Given the description of an element on the screen output the (x, y) to click on. 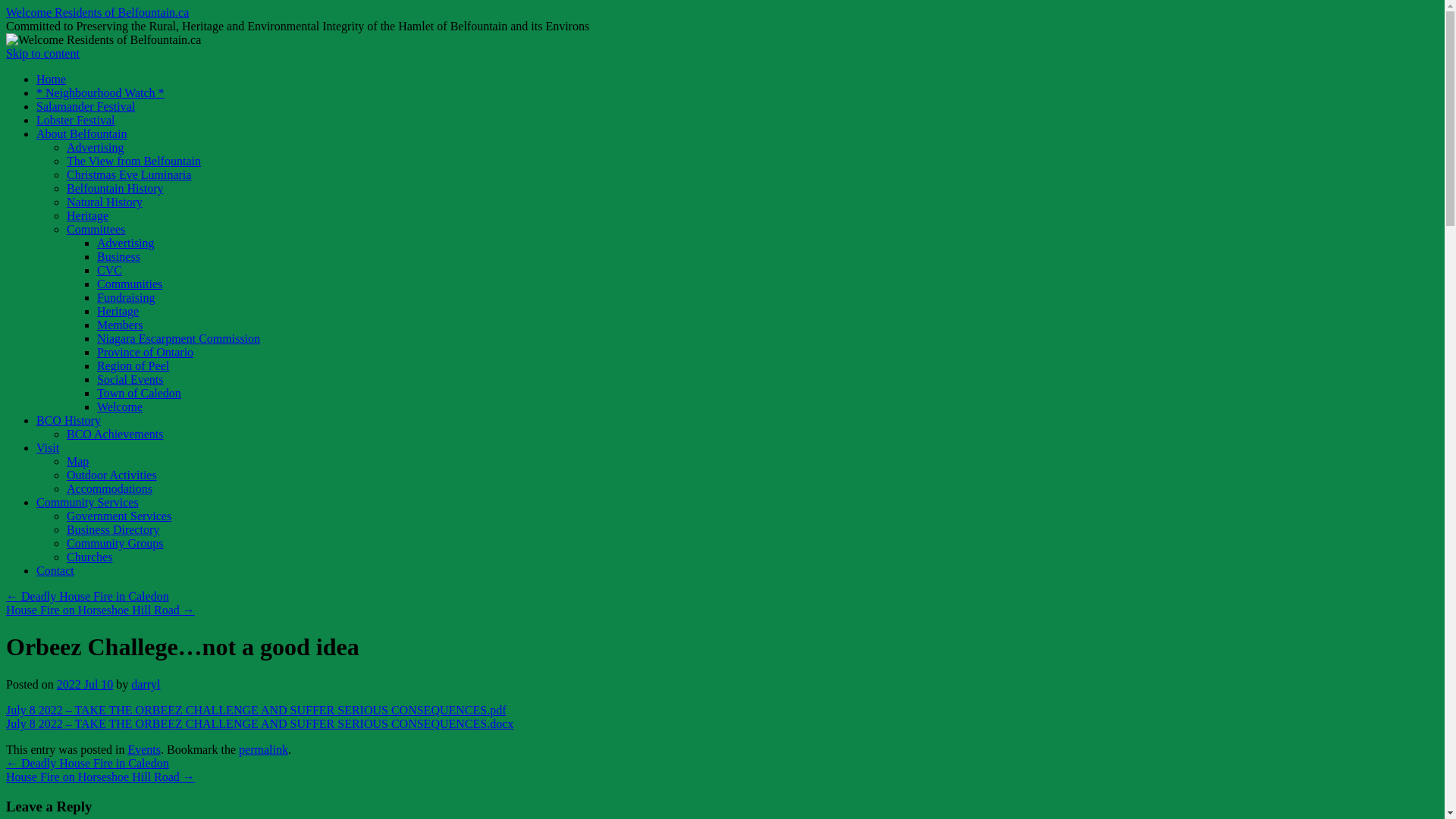
Heritage Element type: text (87, 215)
Welcome Residents of Belfountain.ca Element type: text (97, 12)
The View from Belfountain Element type: text (133, 160)
Committees Element type: text (95, 228)
Town of Caledon Element type: text (139, 392)
darryl Element type: text (145, 683)
Belfountain History Element type: text (114, 188)
BCO Achievements Element type: text (114, 433)
permalink Element type: text (263, 749)
Social Events Element type: text (130, 379)
Communities Element type: text (129, 283)
Fundraising Element type: text (125, 297)
Churches Element type: text (89, 556)
Christmas Eve Luminaria Element type: text (128, 174)
2022 Jul 10 Element type: text (84, 683)
Region of Peel Element type: text (133, 365)
Heritage Element type: text (117, 310)
Welcome Element type: text (119, 406)
Members Element type: text (119, 324)
Events Element type: text (143, 749)
Outdoor Activities Element type: text (111, 474)
Community Groups Element type: text (114, 542)
Business Directory Element type: text (112, 529)
Visit Element type: text (47, 447)
About Belfountain Element type: text (81, 133)
Community Services Element type: text (87, 501)
Province of Ontario Element type: text (145, 351)
Map Element type: text (77, 461)
Skip to content Element type: text (42, 53)
* Neighbourhood Watch * Element type: text (100, 92)
Accommodations Element type: text (109, 488)
Salamander Festival Element type: text (85, 106)
Government Services Element type: text (118, 515)
Home Element type: text (50, 78)
Business Element type: text (118, 256)
CVC Element type: text (109, 269)
Niagara Escarpment Commission Element type: text (178, 338)
BCO History Element type: text (68, 420)
Contact Element type: text (55, 570)
Advertising Element type: text (95, 147)
Natural History Element type: text (104, 201)
Advertising Element type: text (125, 242)
Lobster Festival Element type: text (75, 119)
